Given the description of an element on the screen output the (x, y) to click on. 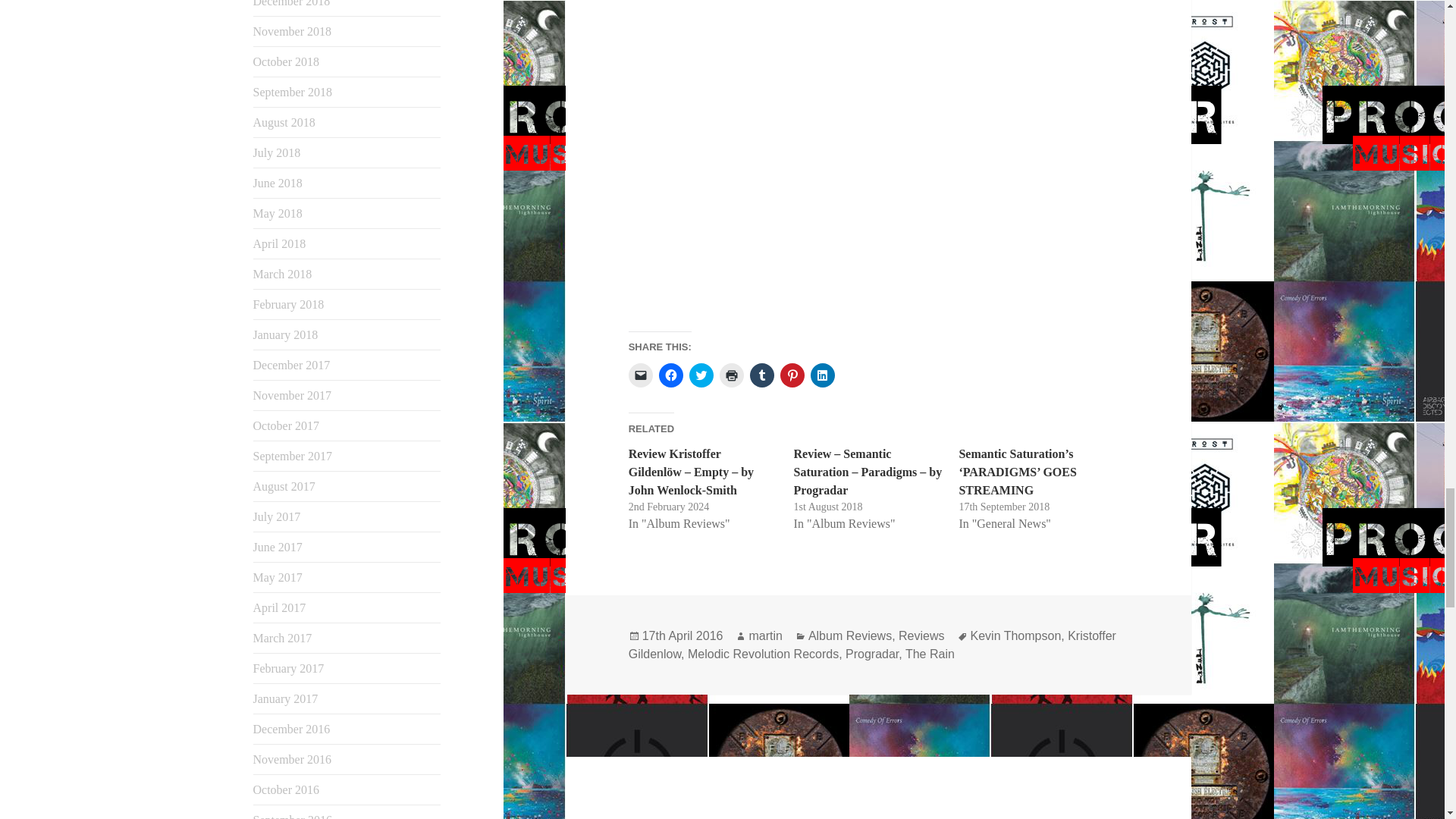
Click to email a link to a friend (640, 375)
Click to share on Pinterest (792, 375)
Click to share on Facebook (670, 375)
Click to print (731, 375)
Click to share on LinkedIn (822, 375)
Click to share on Twitter (700, 375)
Click to share on Tumblr (761, 375)
